Given the description of an element on the screen output the (x, y) to click on. 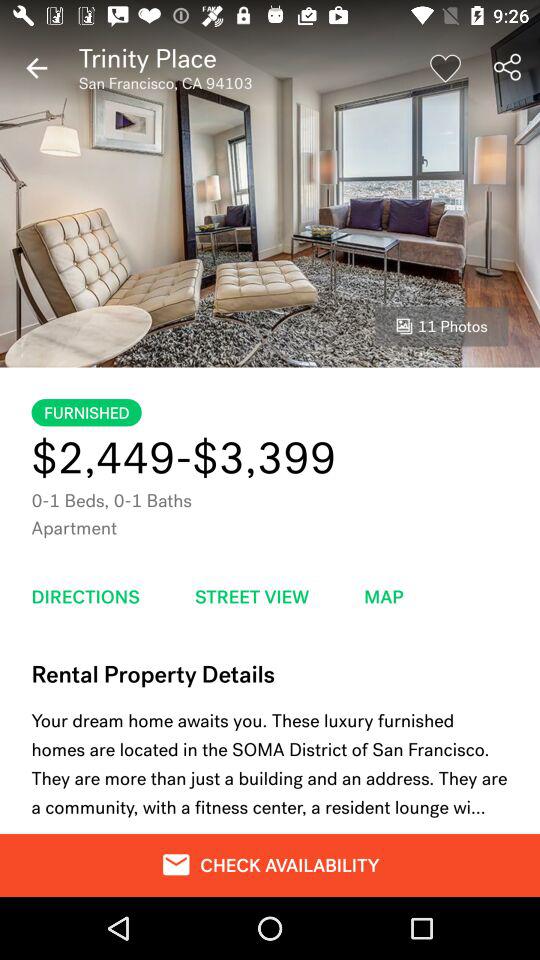
back face (36, 68)
